Given the description of an element on the screen output the (x, y) to click on. 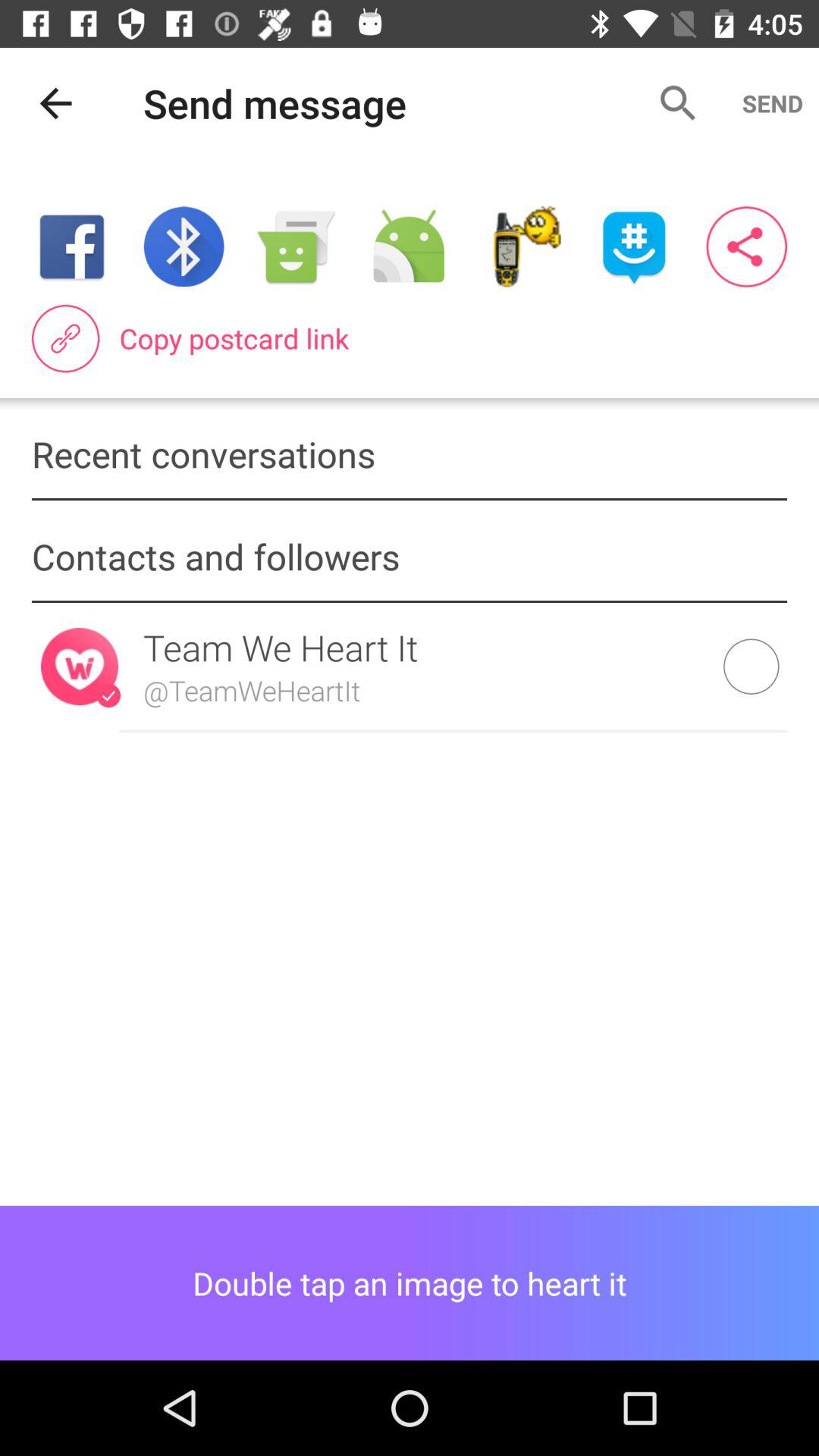
turn on item above copy postcard link (633, 246)
